Given the description of an element on the screen output the (x, y) to click on. 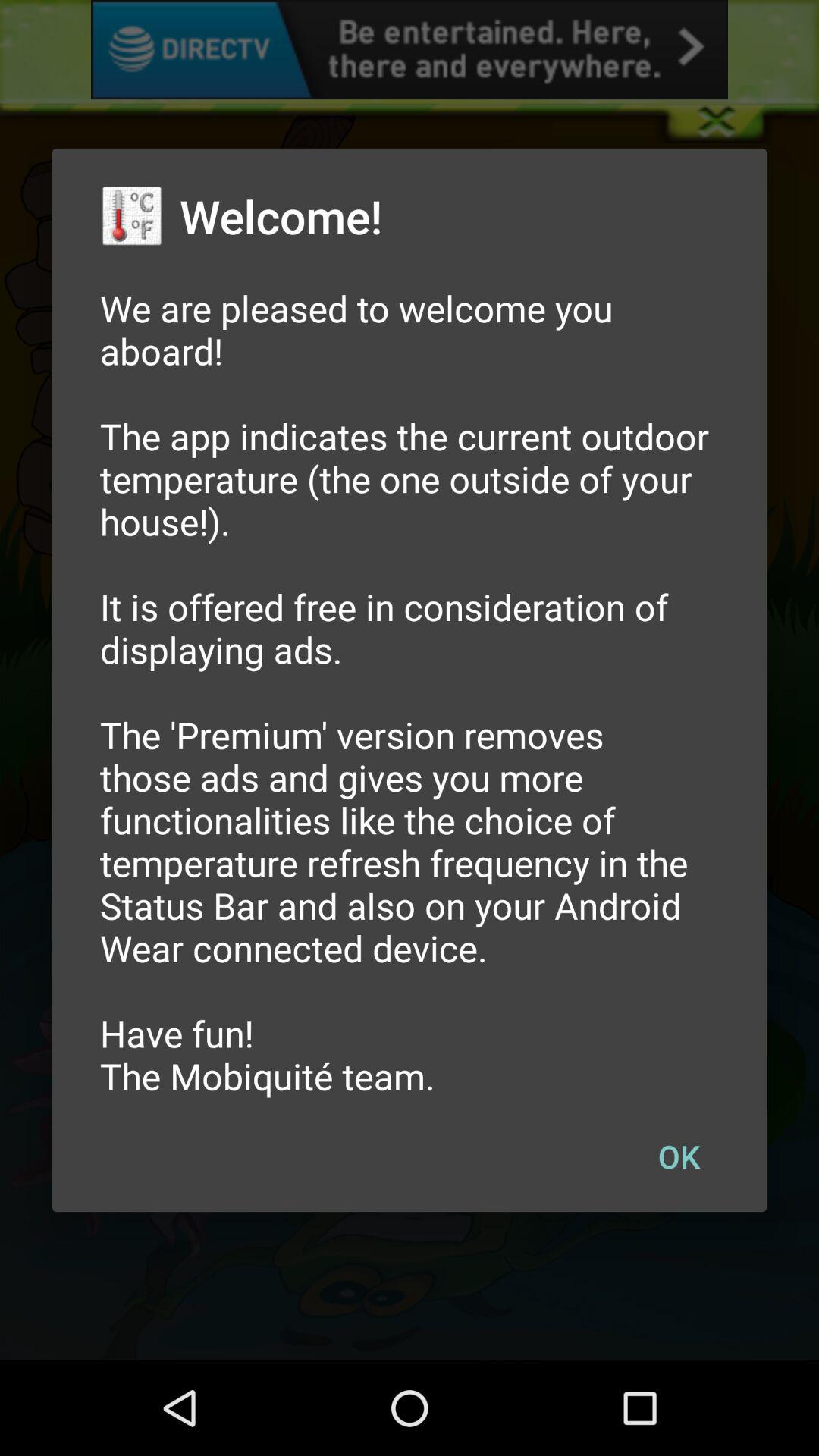
press the item below we are pleased icon (678, 1156)
